Given the description of an element on the screen output the (x, y) to click on. 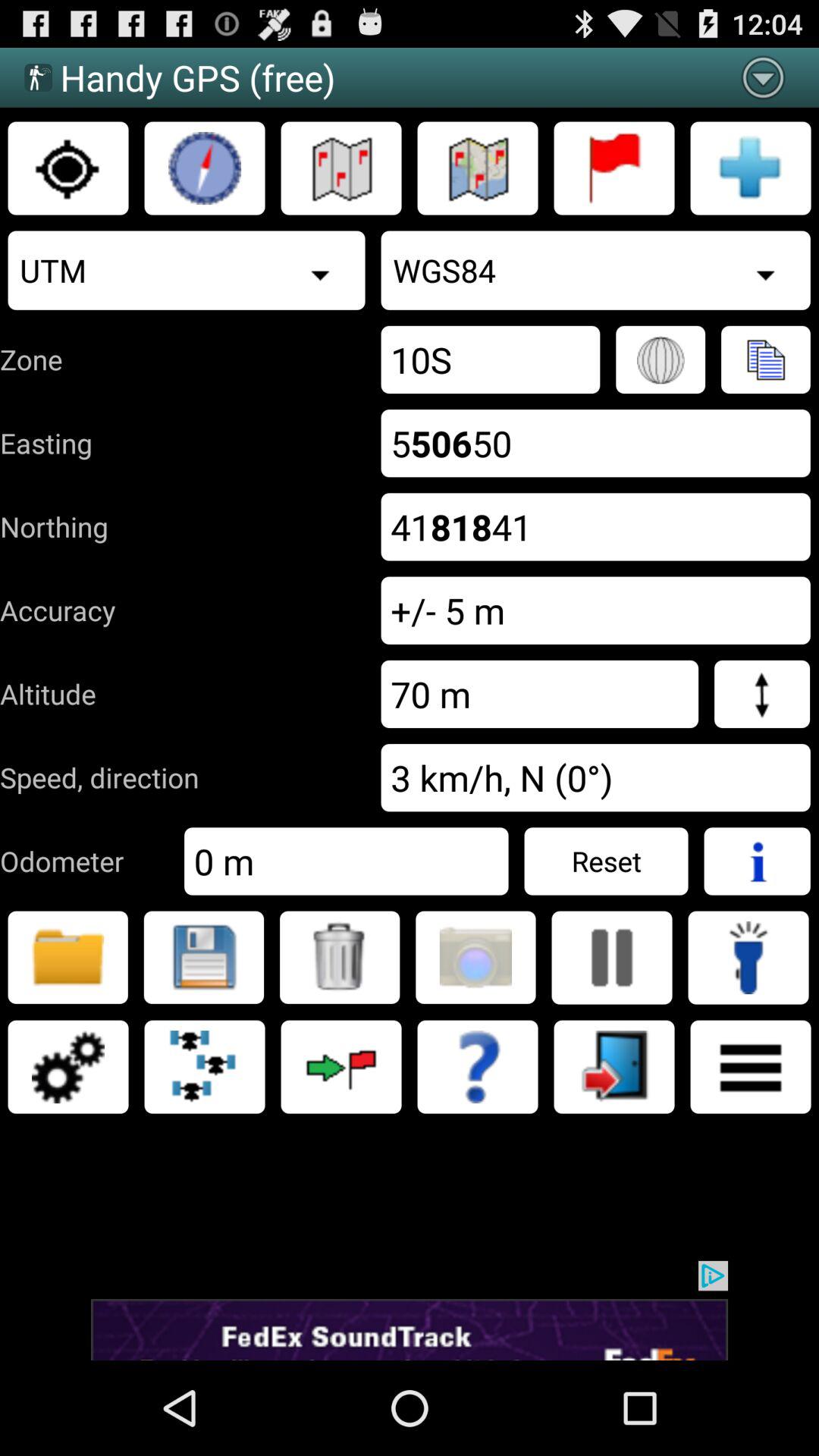
get more information (757, 861)
